Given the description of an element on the screen output the (x, y) to click on. 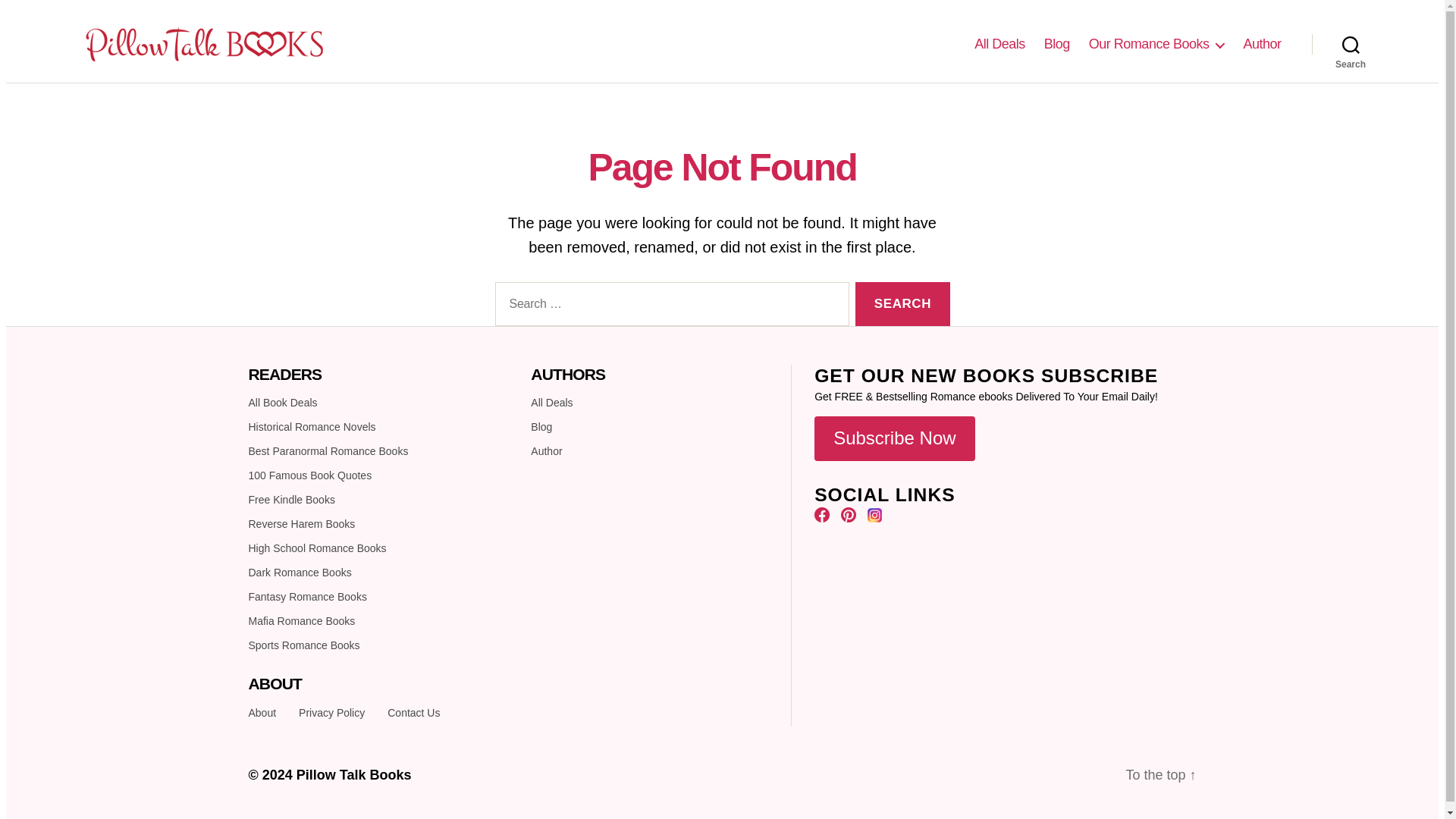
Author (1262, 44)
Our Romance Books (1156, 44)
Search (1350, 43)
All Deals (999, 44)
Search (902, 303)
Search (902, 303)
Blog (1056, 44)
